Given the description of an element on the screen output the (x, y) to click on. 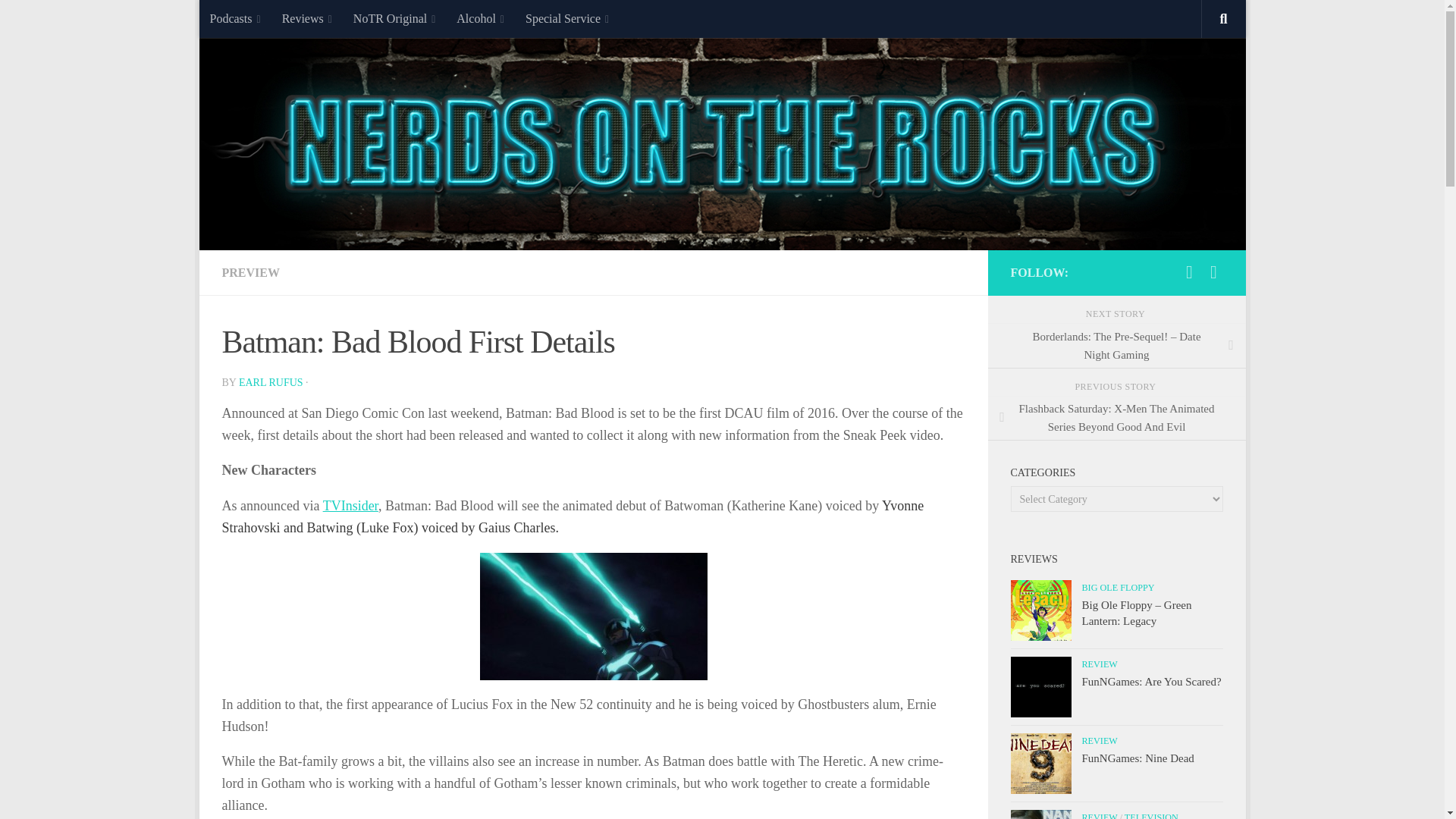
Posts by Earl Rufus (270, 382)
Follow us on Twitter-square (1188, 271)
Skip to content (258, 20)
Follow us on Facebook-square (1213, 271)
